Given the description of an element on the screen output the (x, y) to click on. 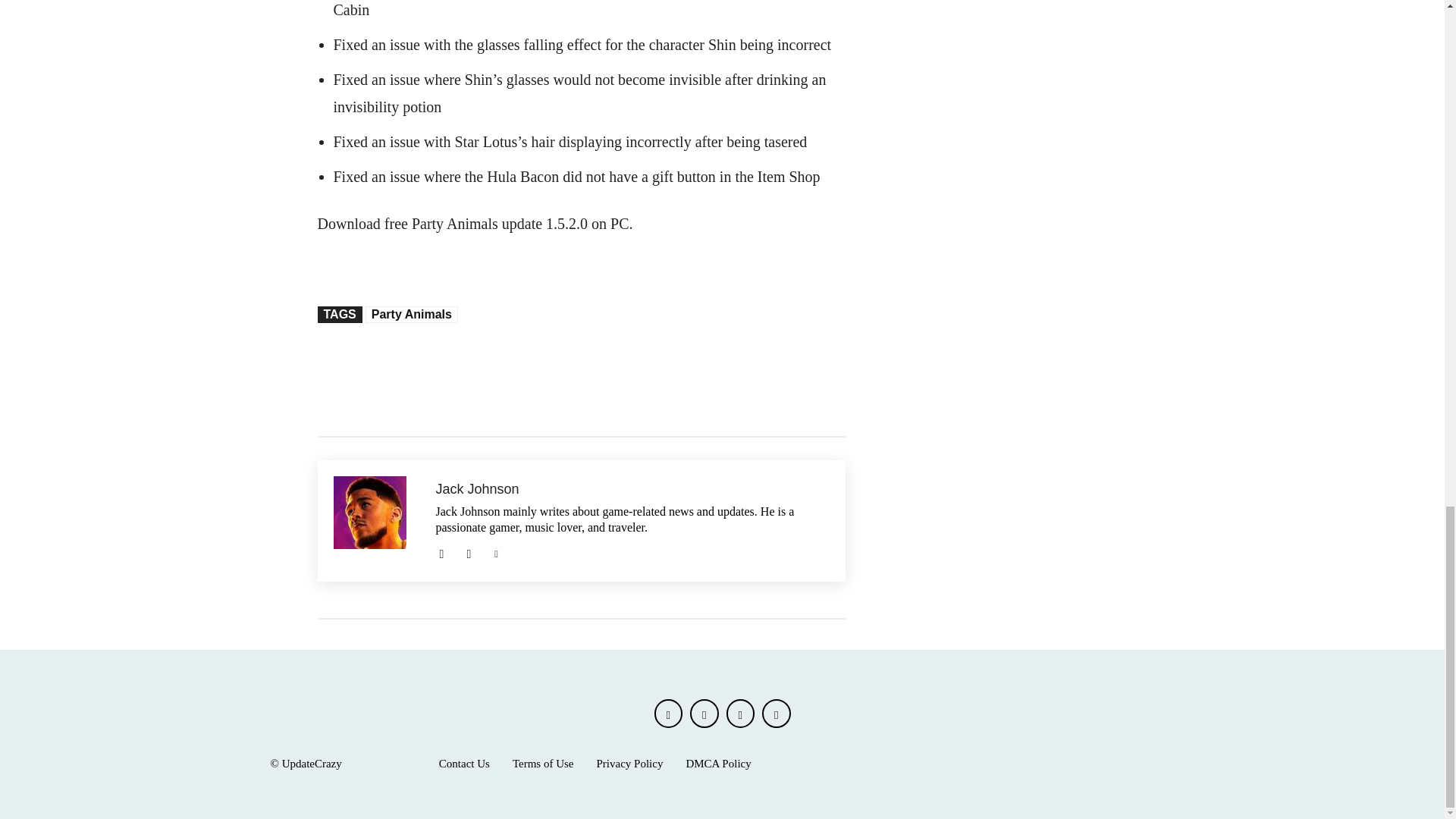
Party Animals (411, 314)
Mail (440, 551)
Contact Us (464, 763)
Jack Johnson (631, 489)
Reddit (468, 551)
Jack Johnson (376, 520)
Twitter (495, 551)
Facebook (667, 713)
